Given the description of an element on the screen output the (x, y) to click on. 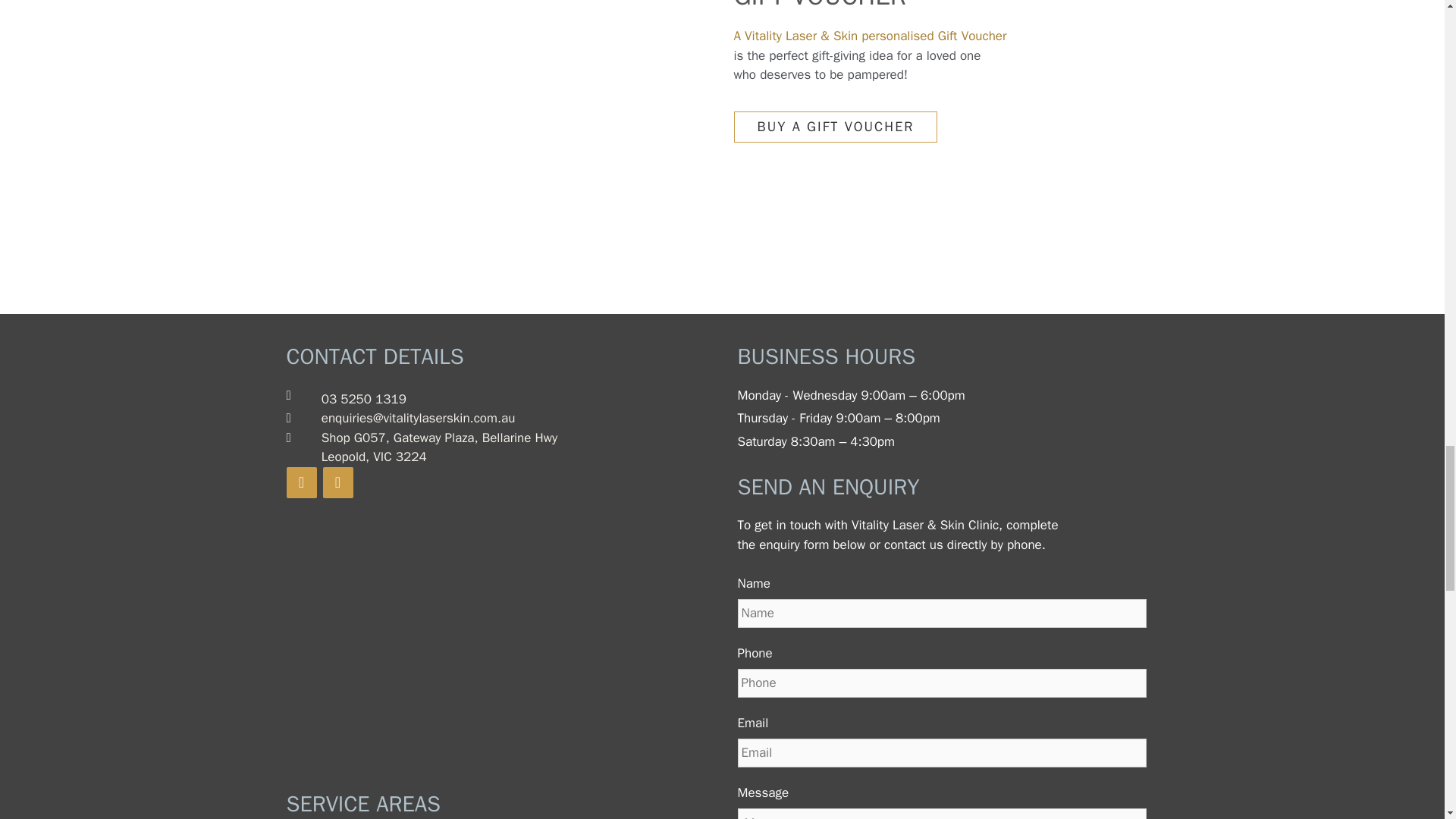
img giftVoucher (542, 93)
Facebook (301, 481)
Instagram (338, 481)
